Given the description of an element on the screen output the (x, y) to click on. 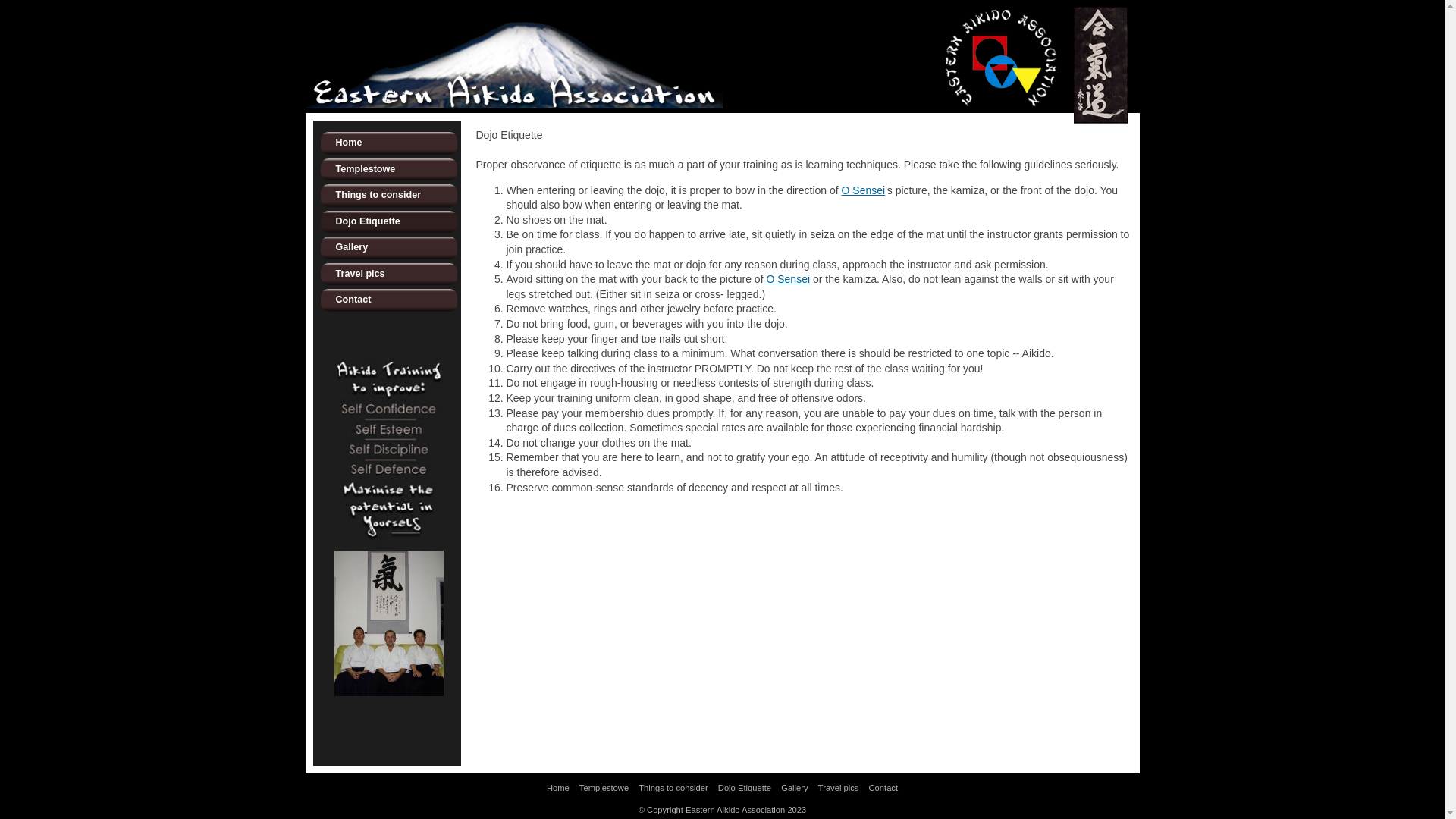
Travel pics Element type: text (388, 274)
Home Element type: text (388, 142)
Templestowe Element type: text (603, 788)
Things to consider Element type: text (672, 788)
Contact Element type: text (883, 788)
Gallery Element type: text (794, 788)
Home Element type: text (557, 788)
Templestowe Element type: text (388, 168)
Travel pics Element type: text (838, 788)
Things to consider Element type: text (388, 195)
Gallery Element type: text (388, 247)
O Sensei Element type: text (863, 190)
Contact Element type: text (388, 299)
Dojo Etiquette Element type: text (744, 788)
Dojo Etiquette Element type: text (388, 221)
O Sensei Element type: text (787, 279)
